Given the description of an element on the screen output the (x, y) to click on. 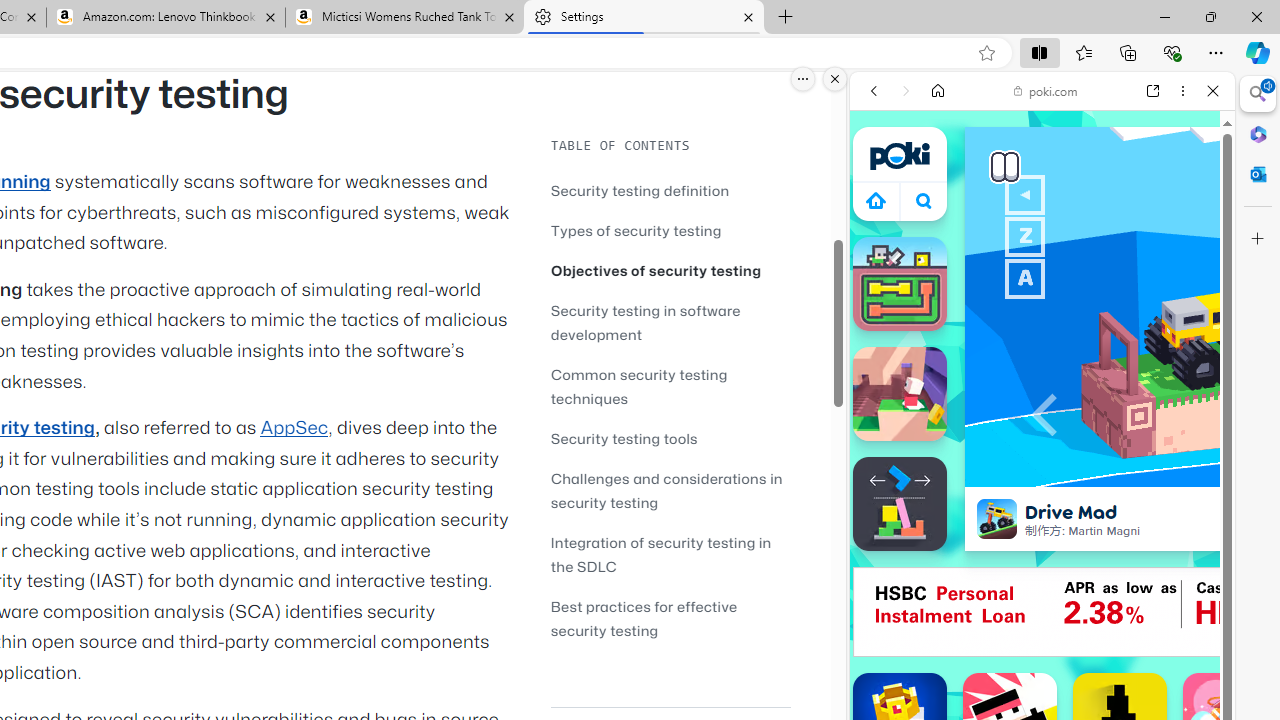
Drive Mad (996, 518)
Close split screen. (835, 79)
Types of security testing (635, 230)
Show More Io Games (1164, 619)
Io Games (1042, 616)
Monster Match Monster Match (899, 283)
Common security testing techniques (670, 386)
Shooting Games (1042, 518)
